Given the description of an element on the screen output the (x, y) to click on. 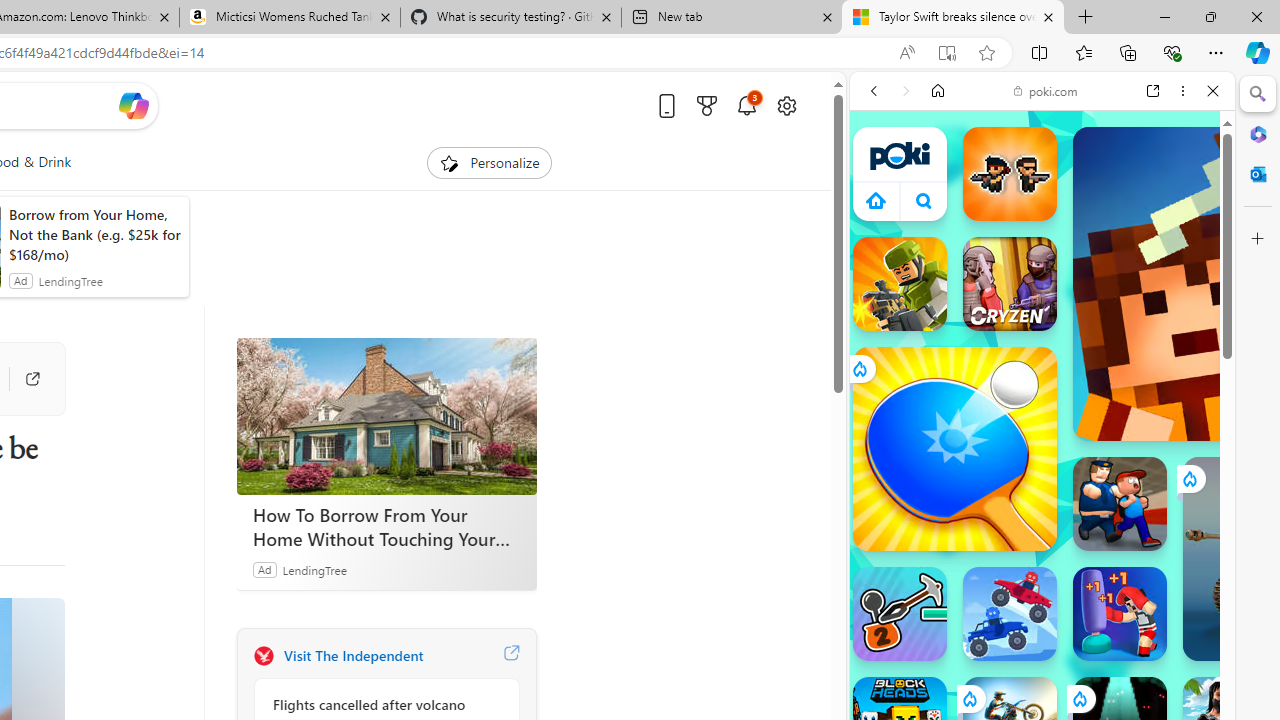
The Independent (263, 655)
Stickman Climb 2 Stickman Climb 2 (899, 613)
Sports Games (1042, 666)
Class: rCs5cyEiqiTpYvt_VBCR (1079, 698)
Go to publisher's site (22, 378)
Visit The Independent website (511, 655)
Stickman Climb 2 (899, 613)
Kour.io Kour.io (899, 283)
